Given the description of an element on the screen output the (x, y) to click on. 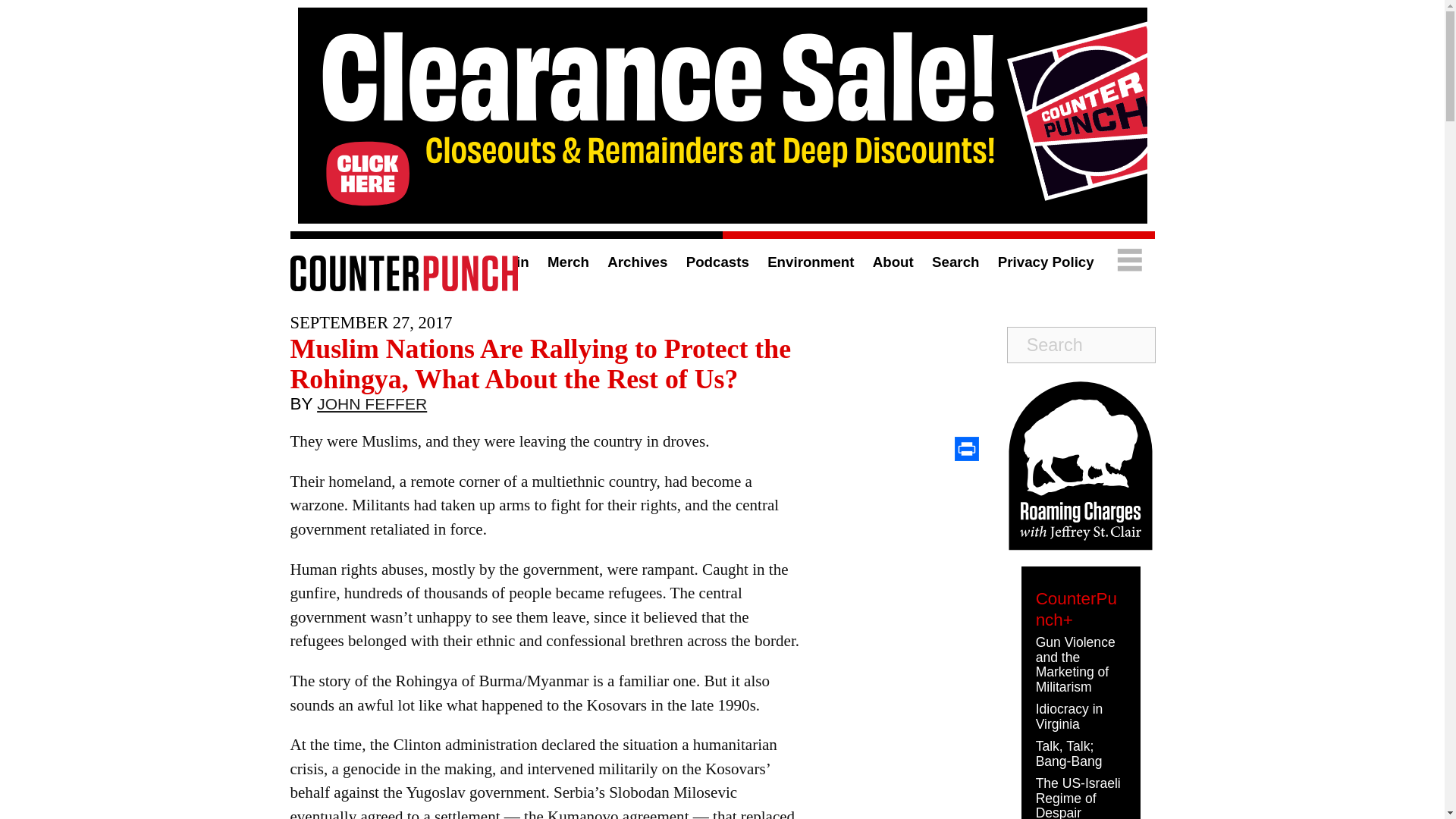
Archives (636, 261)
Search (954, 261)
Print This Post (966, 448)
Podcasts (717, 261)
Merch (568, 261)
2017-09-27 (370, 322)
JOHN FEFFER (371, 407)
Environment (810, 261)
About (893, 261)
